Given the description of an element on the screen output the (x, y) to click on. 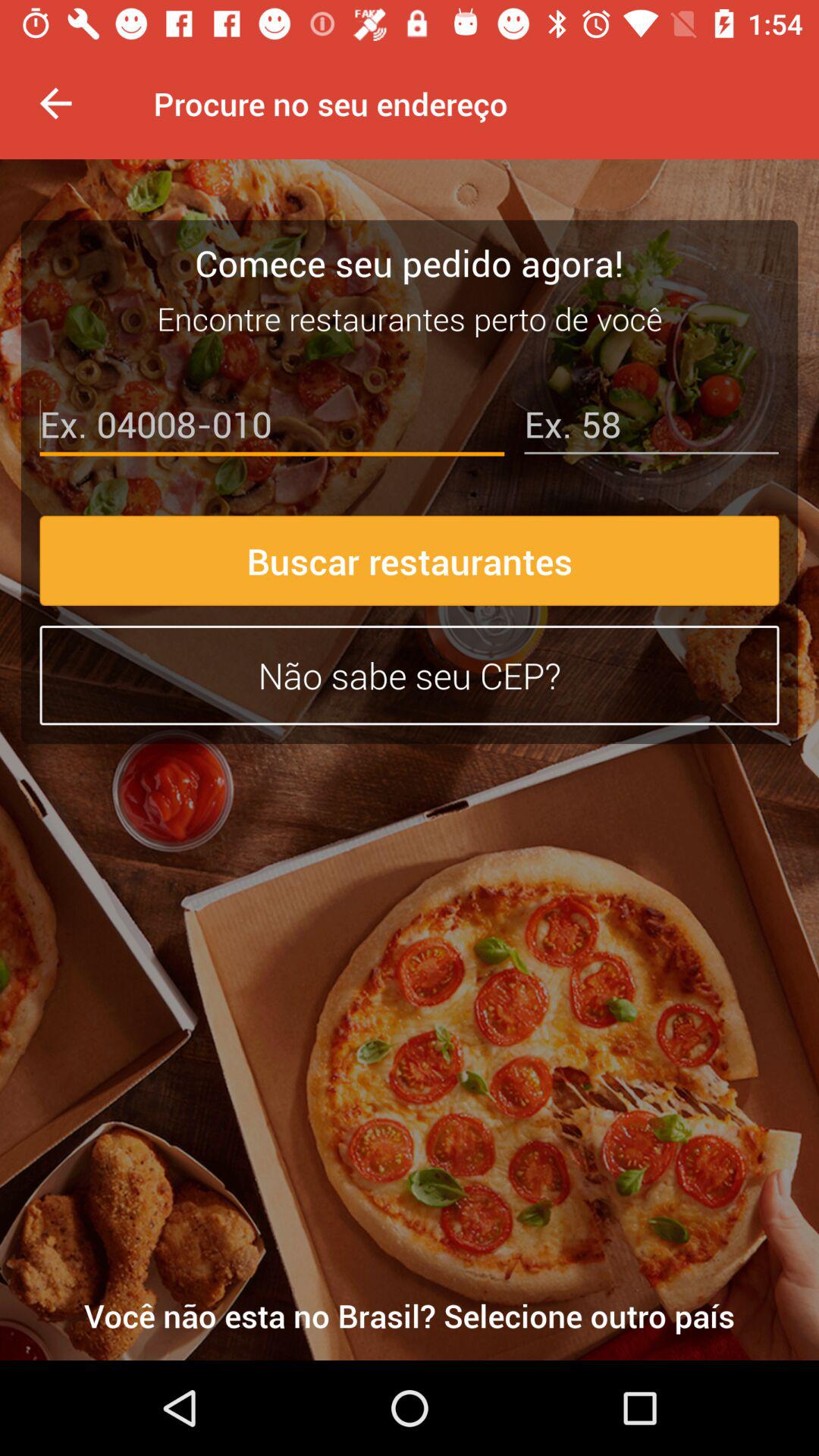
enter address (651, 427)
